Given the description of an element on the screen output the (x, y) to click on. 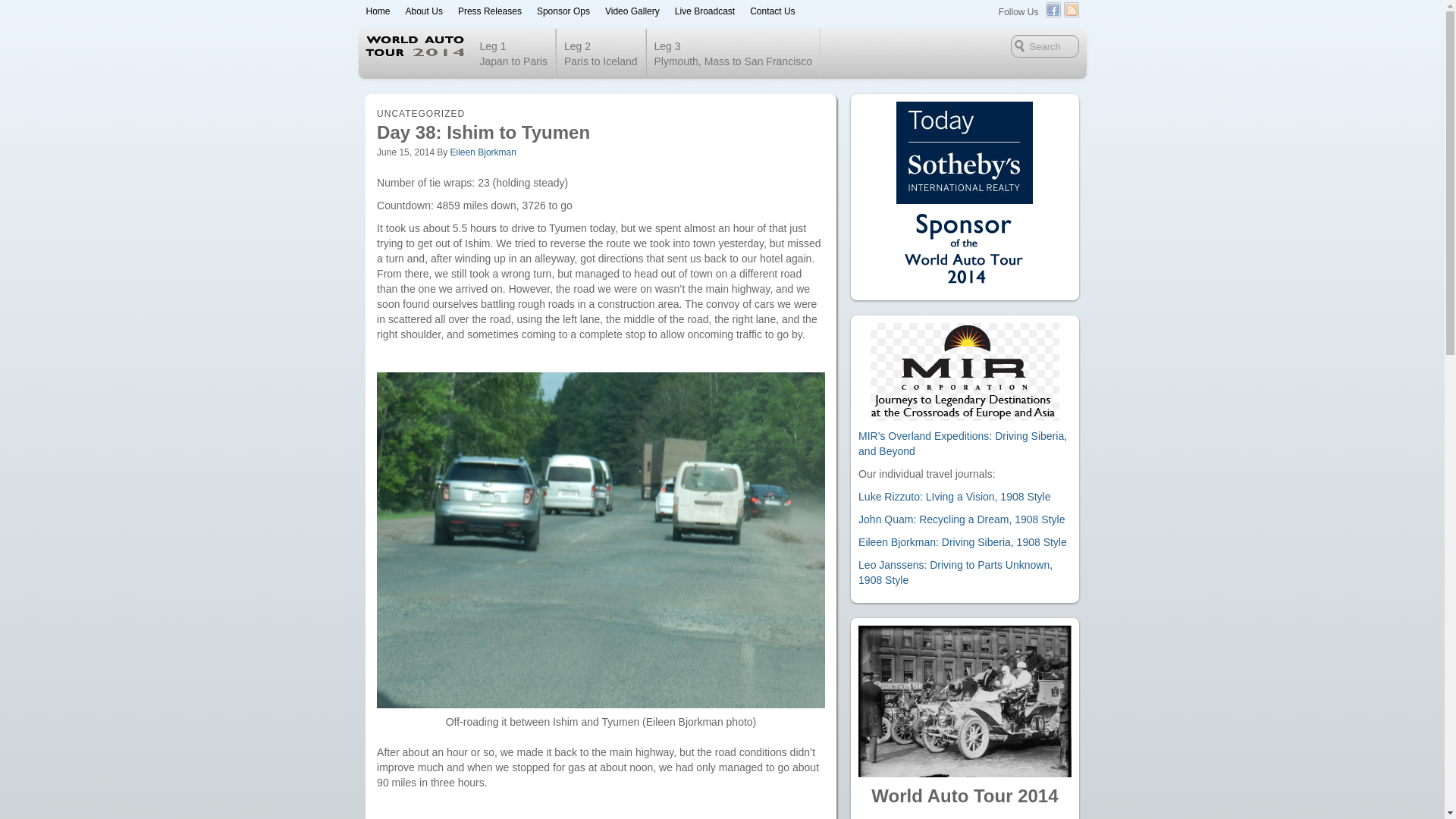
Eileen Bjorkman (482, 152)
RSS Feed (1070, 9)
Press Releases (489, 10)
Sponsor Ops (562, 10)
Contact Us (772, 10)
Live Broadcast (704, 10)
RSS Feed (1070, 9)
Video Gallery (513, 53)
UNCATEGORIZED (631, 10)
Search (420, 113)
Home (22, 9)
Facebook (377, 10)
World Auto Tour 2020 (1052, 9)
World Auto Tour 2020 (505, 51)
